Given the description of an element on the screen output the (x, y) to click on. 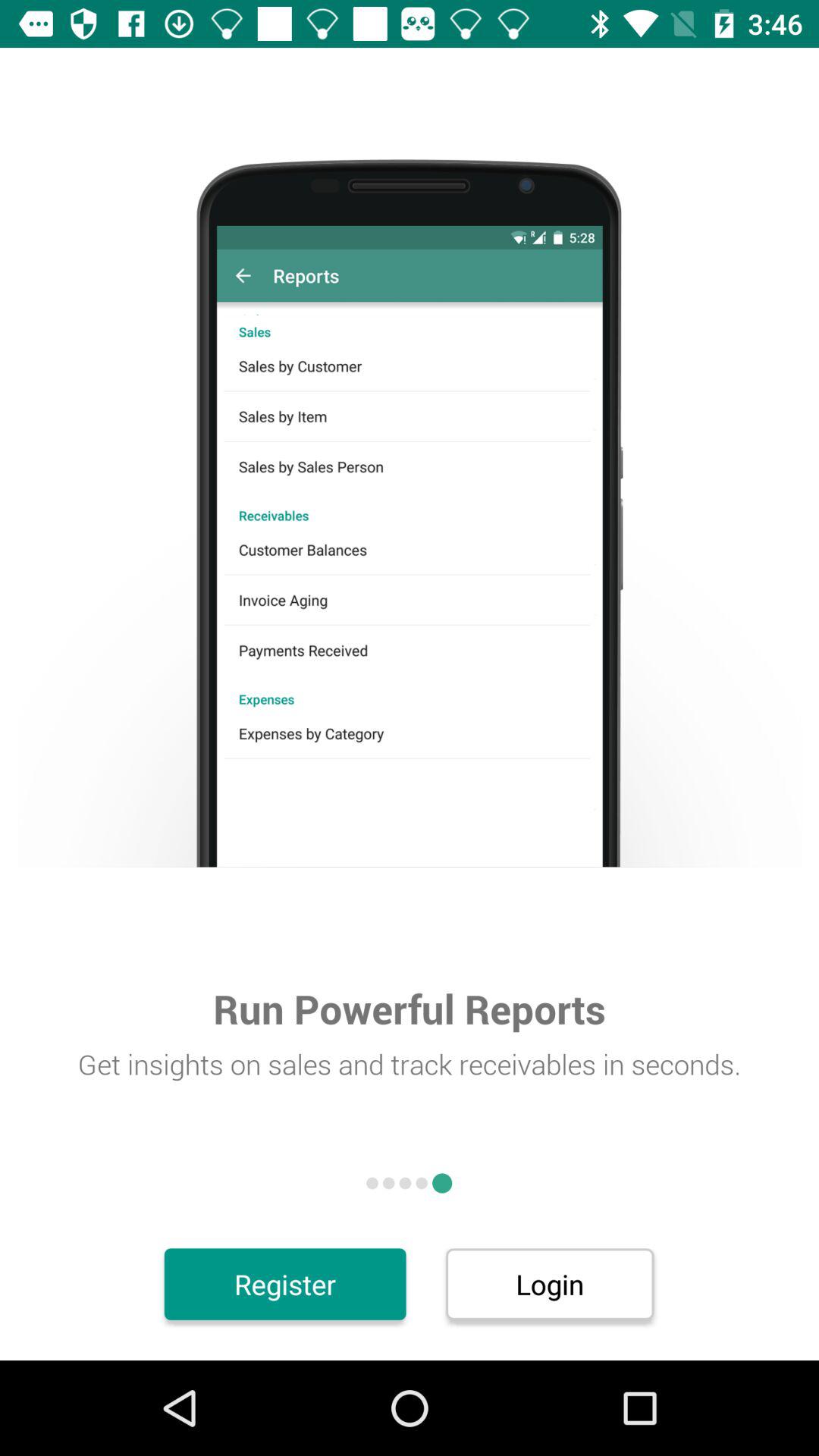
press item next to register item (549, 1284)
